Given the description of an element on the screen output the (x, y) to click on. 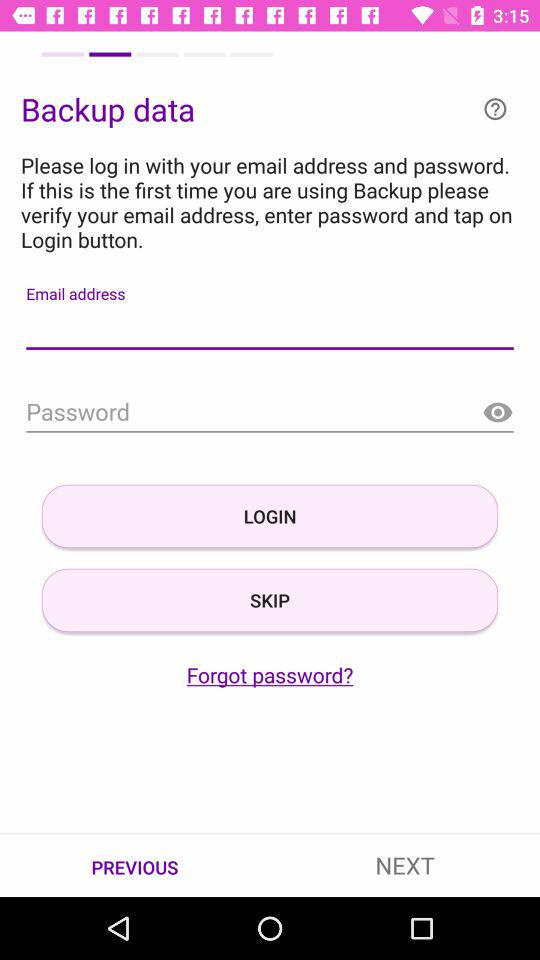
help or info (495, 108)
